Given the description of an element on the screen output the (x, y) to click on. 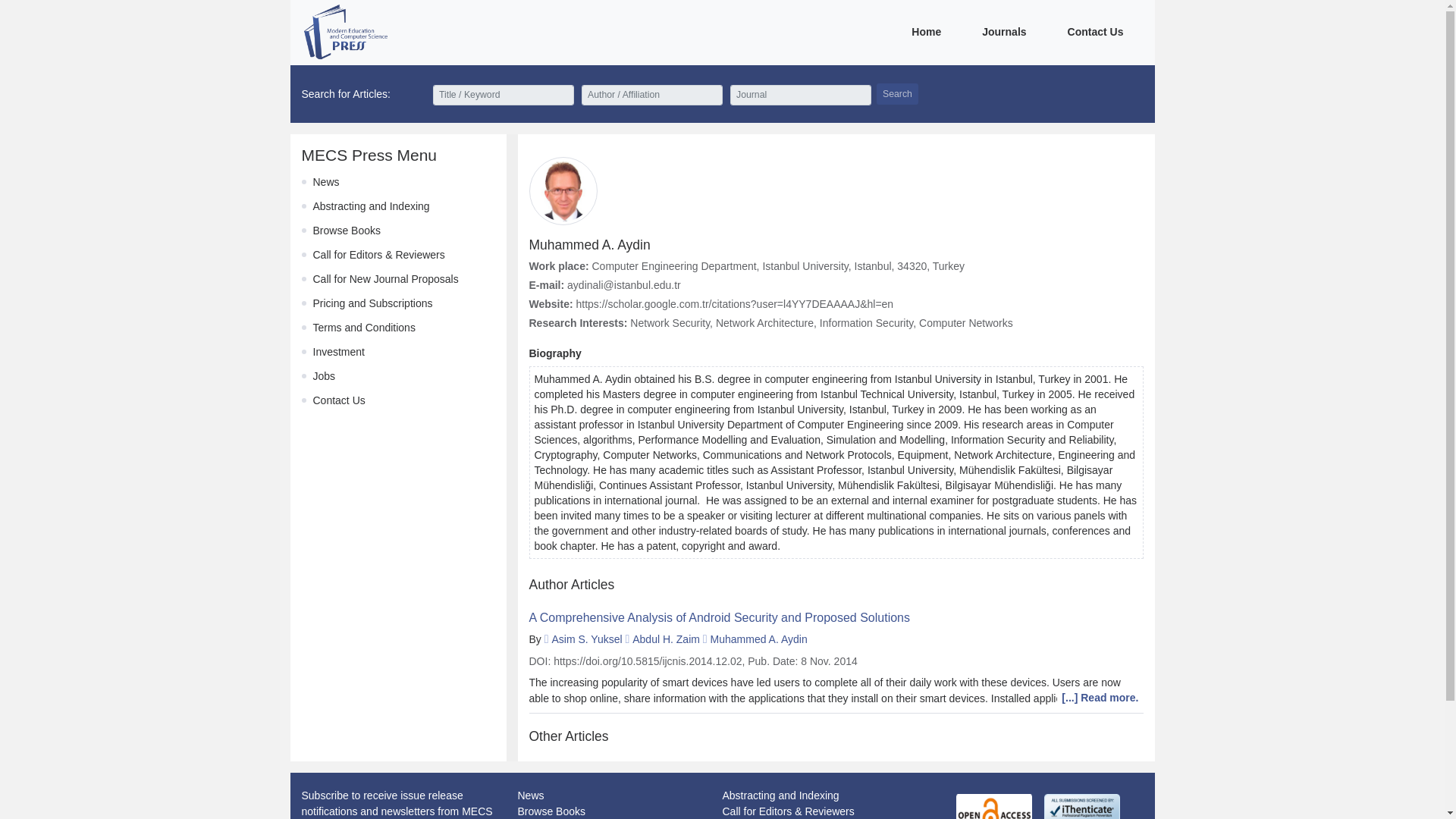
Search (897, 93)
Browse Books (550, 811)
Abstracting and Indexing (780, 795)
Asim S. Yuksel (586, 639)
Abdul H. Zaim (665, 639)
Investment (338, 351)
Pricing and Subscriptions (372, 303)
News (326, 182)
Contact Us (339, 399)
